Given the description of an element on the screen output the (x, y) to click on. 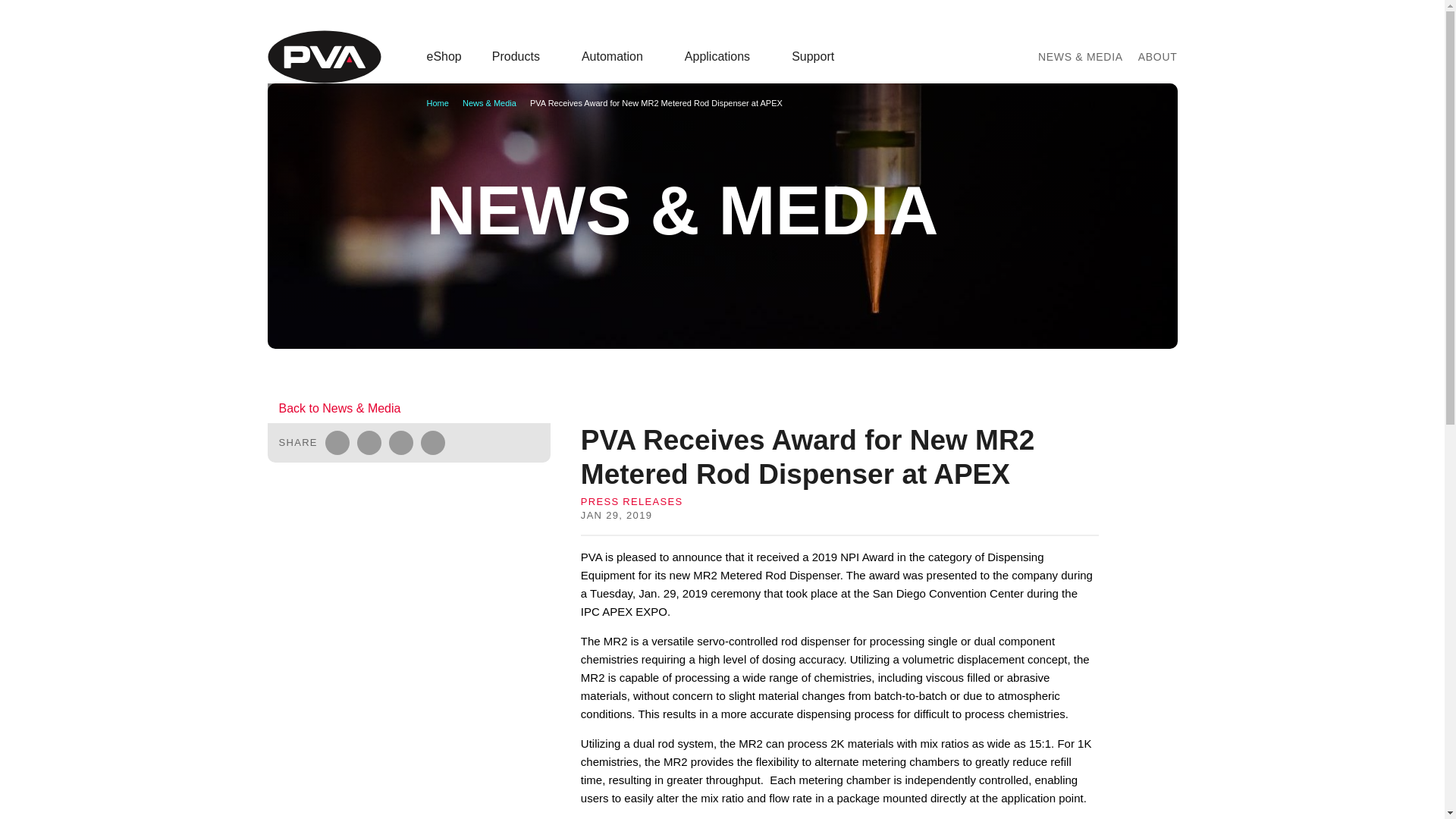
Automation (616, 56)
eShop (443, 56)
Applications (722, 56)
Products (521, 56)
Support (818, 56)
